Given the description of an element on the screen output the (x, y) to click on. 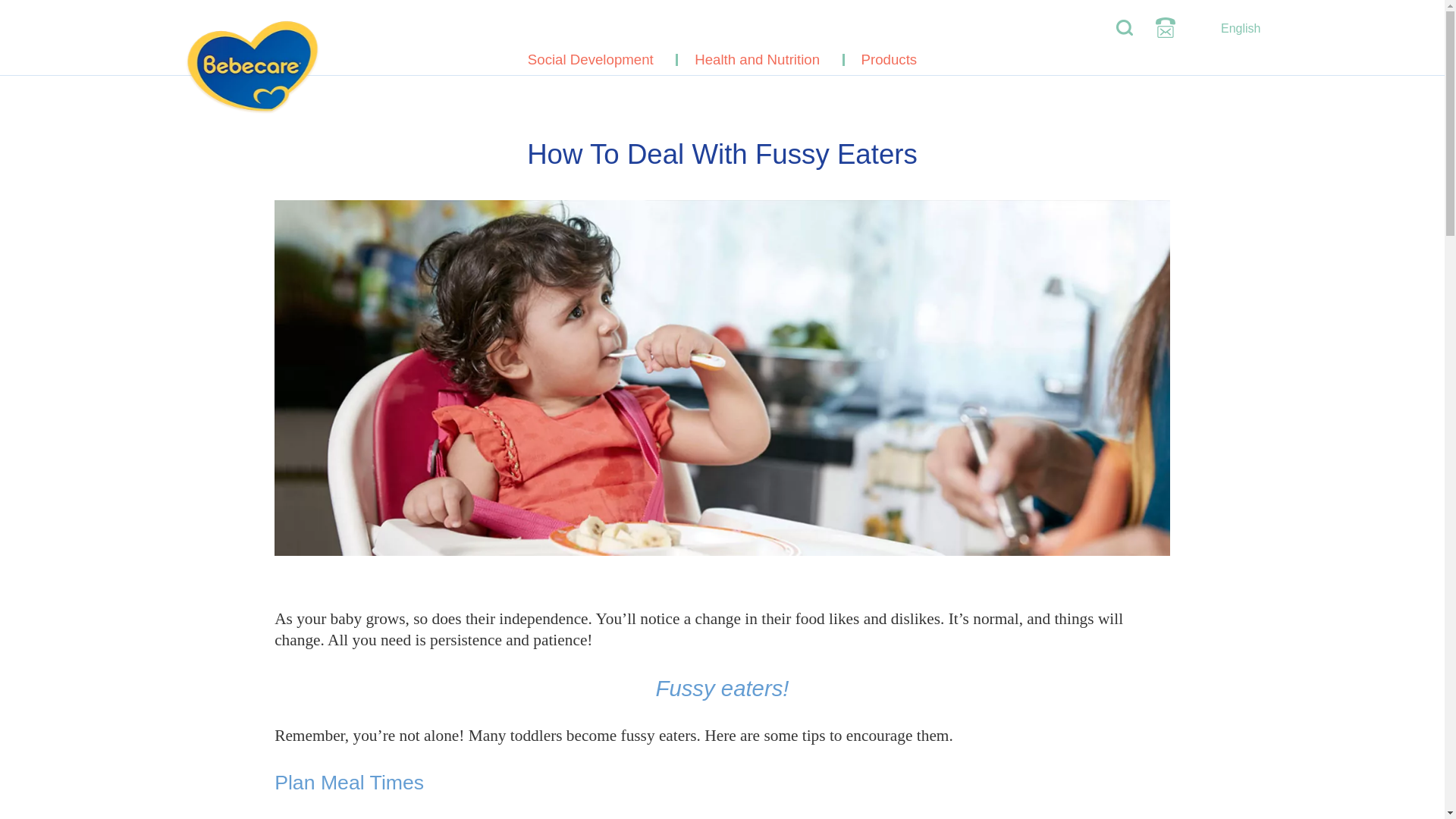
Products (889, 59)
Social Development (590, 59)
Health and Nutrition (756, 59)
submit (1089, 27)
